Given the description of an element on the screen output the (x, y) to click on. 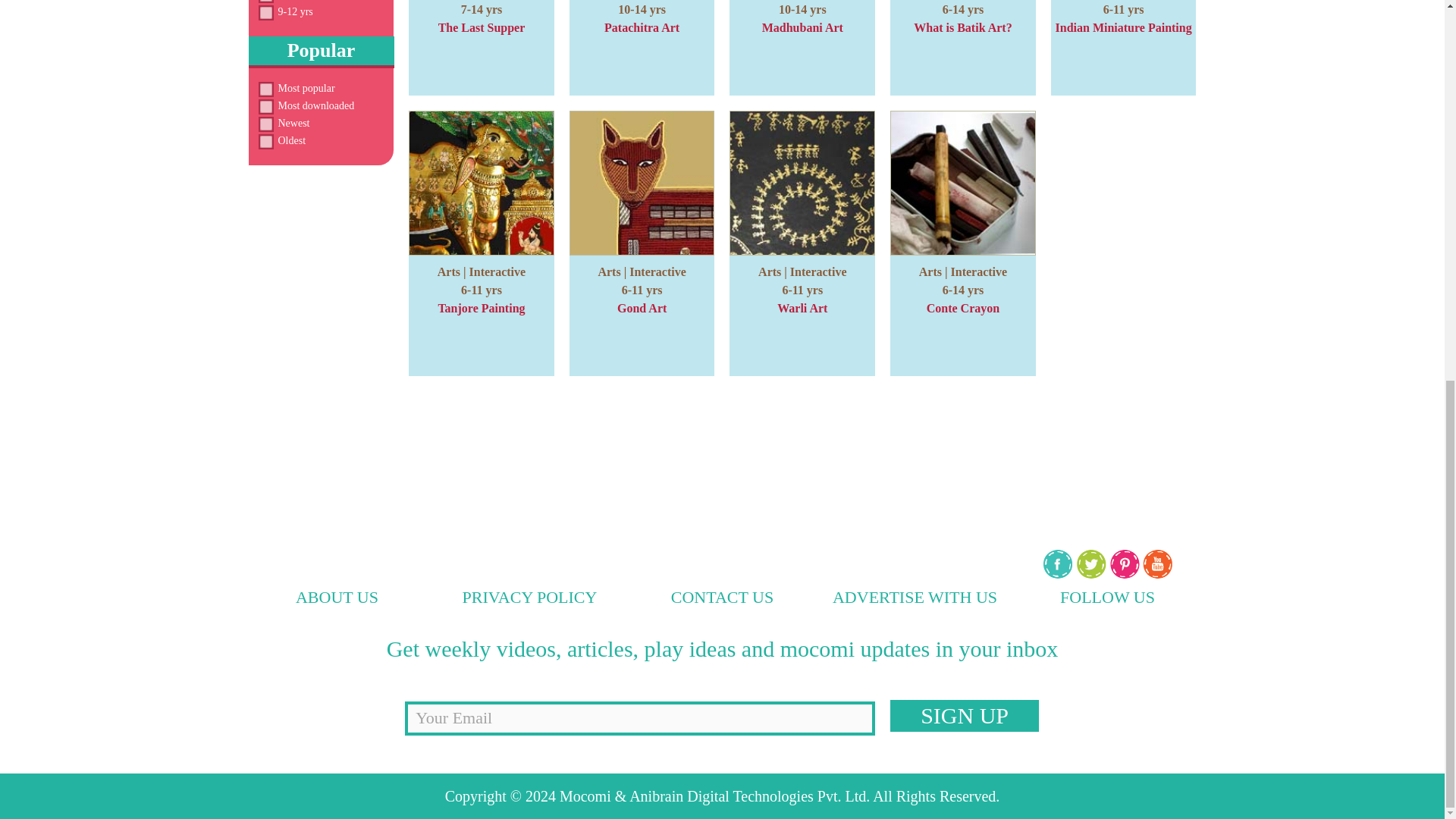
oldest (264, 141)
9-12 (264, 12)
most-popular (264, 89)
newest (264, 123)
most-downloaded (264, 106)
